Given the description of an element on the screen output the (x, y) to click on. 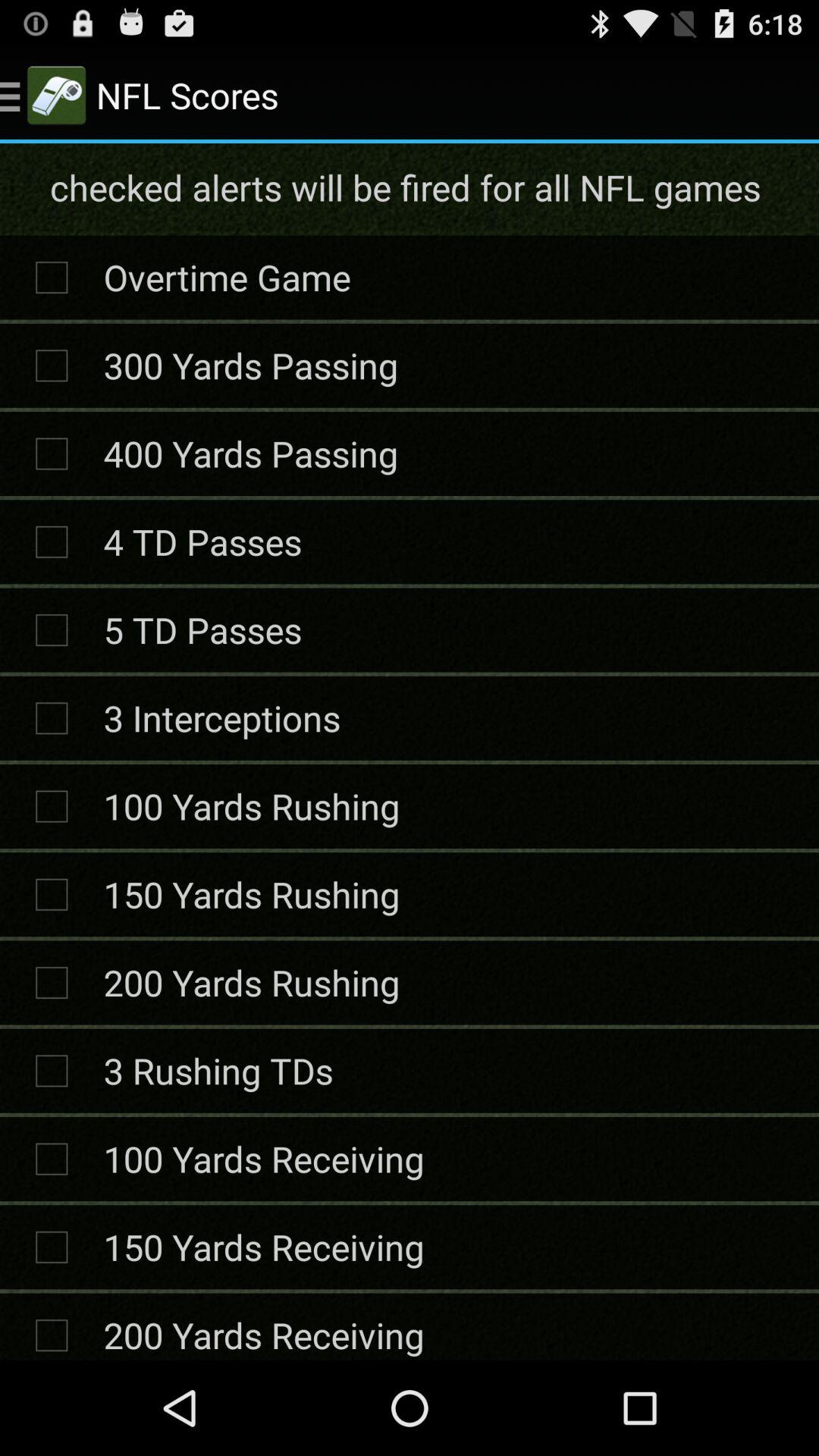
select the overtime game icon (226, 277)
